Given the description of an element on the screen output the (x, y) to click on. 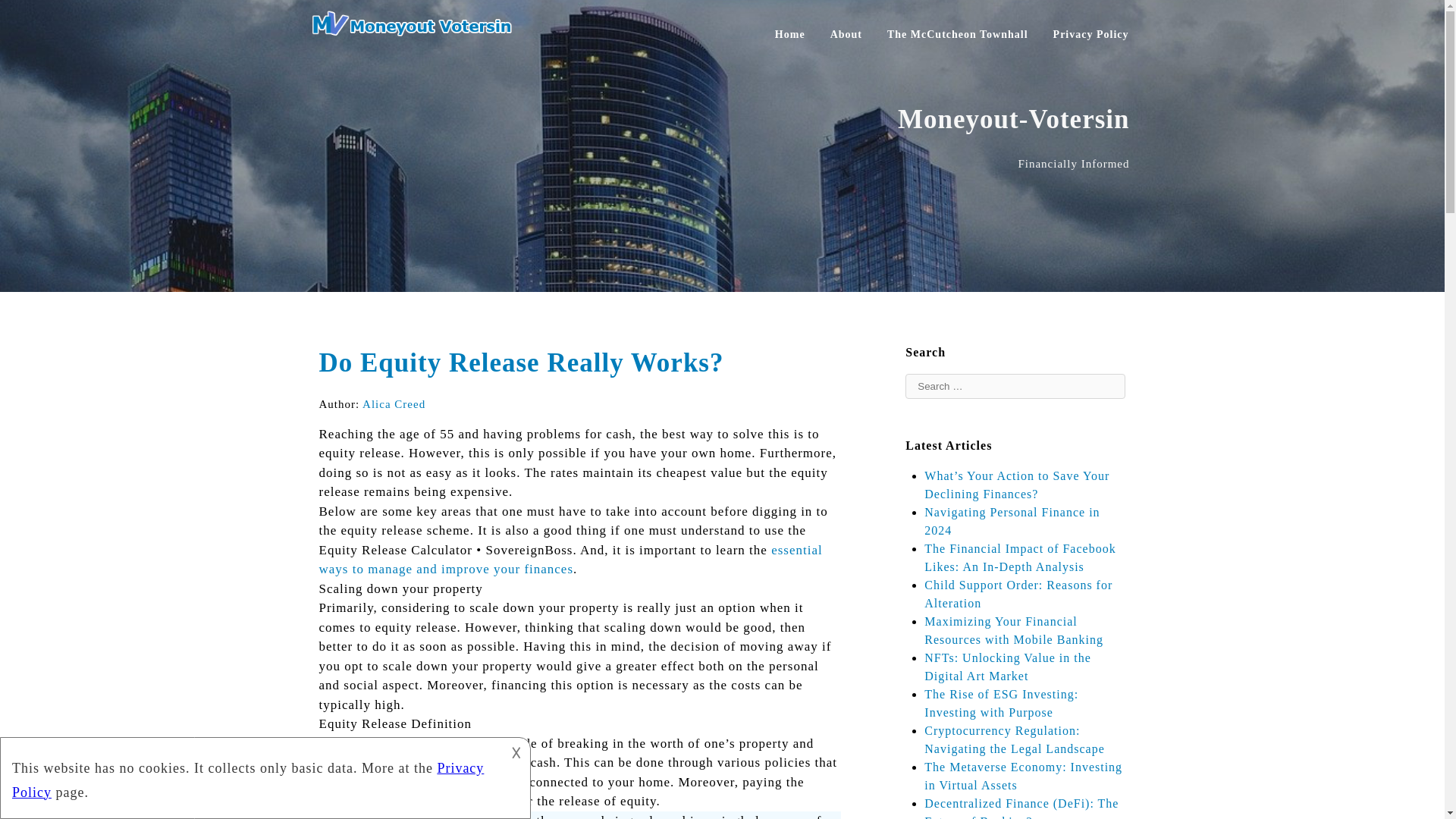
Alica Creed (393, 404)
essential ways to manage and improve your finances (570, 559)
About (845, 33)
Child Support Order: Reasons for Alteration (1018, 593)
Cryptocurrency Regulation: Navigating the Legal Landscape (1013, 739)
Home (789, 33)
description (252, 775)
The Metaverse Economy: Investing in Virtual Assets (1023, 775)
NFTs: Unlocking Value in the Digital Art Market (1007, 666)
Moneyout-Votersin (417, 32)
Navigating Personal Finance in 2024 (1011, 521)
Maximizing Your Financial Resources with Mobile Banking (1013, 630)
The Rise of ESG Investing: Investing with Purpose (1001, 703)
Privacy Policy (1091, 33)
Do Equity Release Really Works? (520, 362)
